Given the description of an element on the screen output the (x, y) to click on. 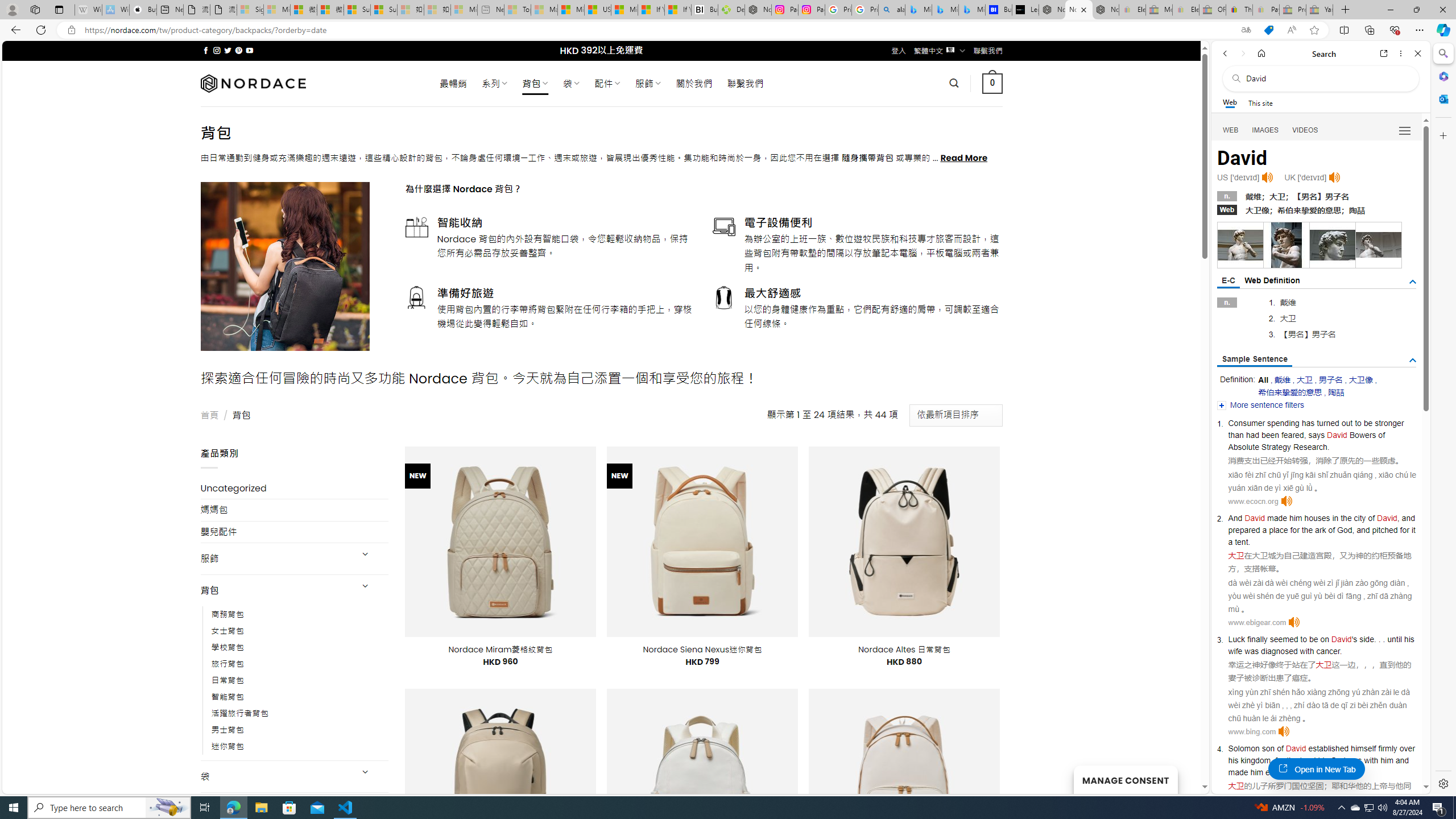
Web Definition (1272, 280)
seemed (1283, 638)
US Heat Deaths Soared To Record High Last Year (597, 9)
Show translate options (1245, 29)
Preferences (1403, 129)
AutomationID: emb2E318D12 (1240, 244)
